Given the description of an element on the screen output the (x, y) to click on. 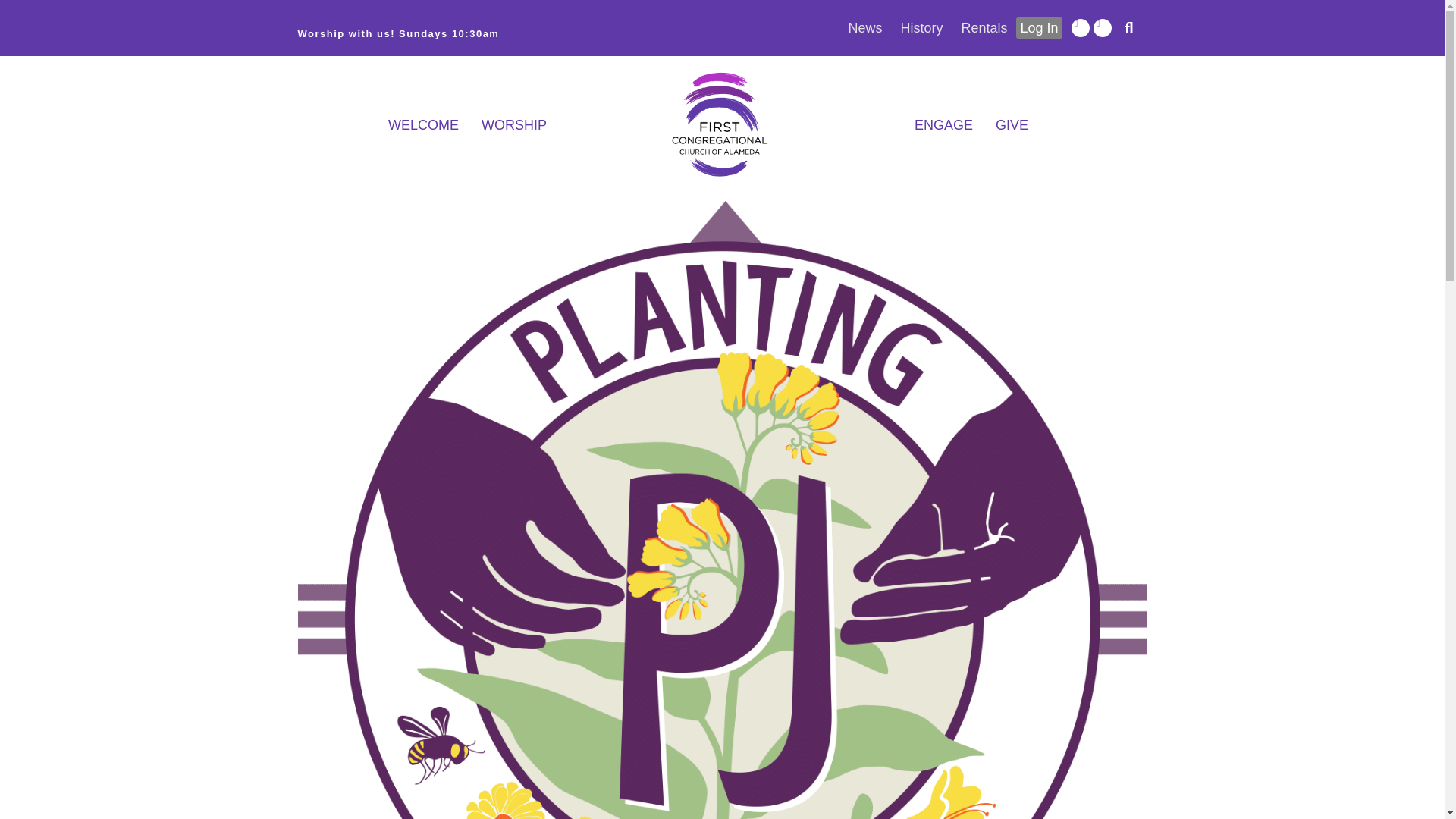
Rentals (984, 27)
WORSHIP (513, 124)
WELCOME (423, 124)
ENGAGE (943, 124)
History (921, 27)
GIVE (1011, 124)
Log In (1038, 27)
News (864, 27)
